Given the description of an element on the screen output the (x, y) to click on. 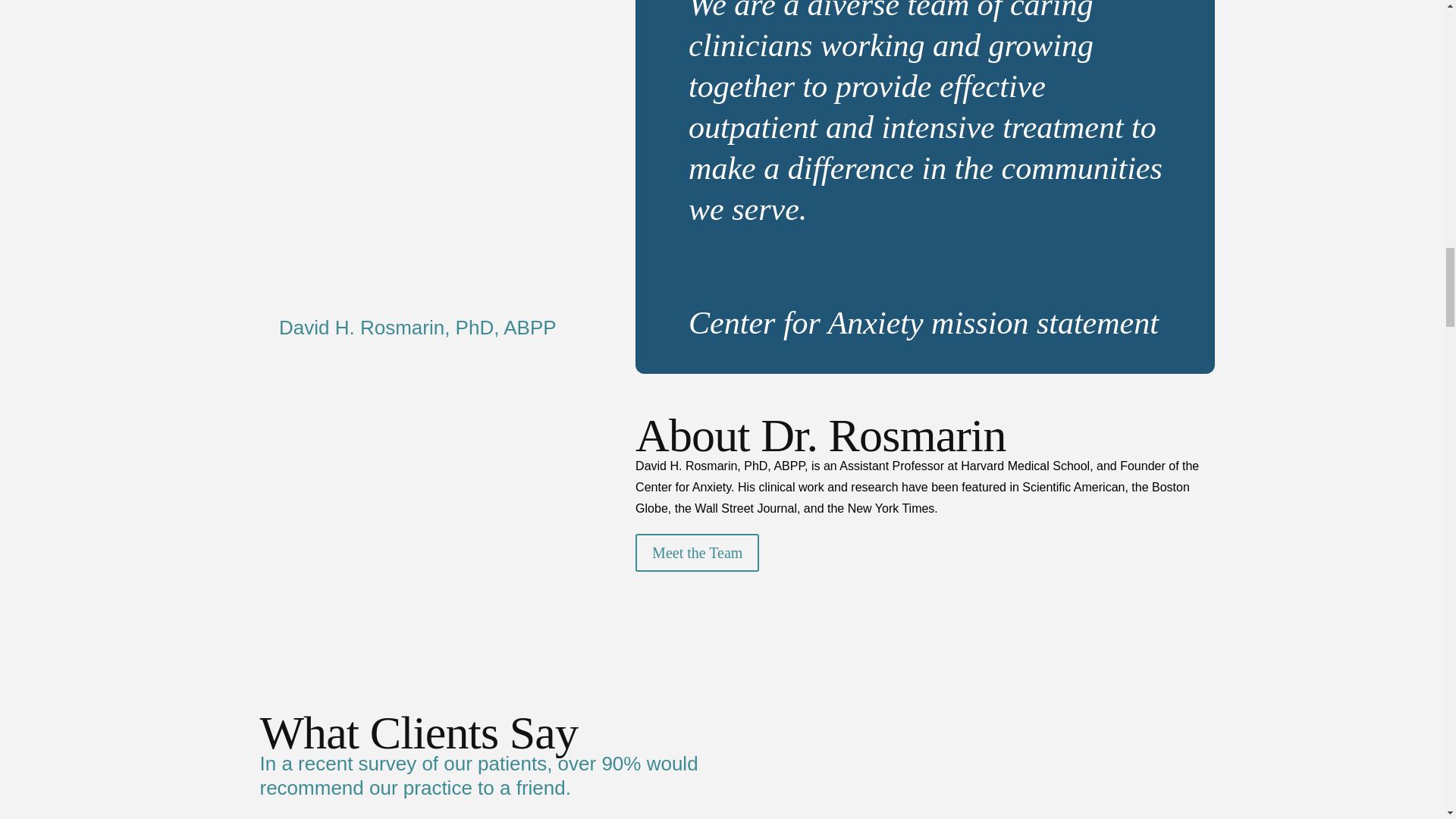
David-H.-Rosmarin-Headshot-square (416, 145)
Meet the Team (696, 552)
